Given the description of an element on the screen output the (x, y) to click on. 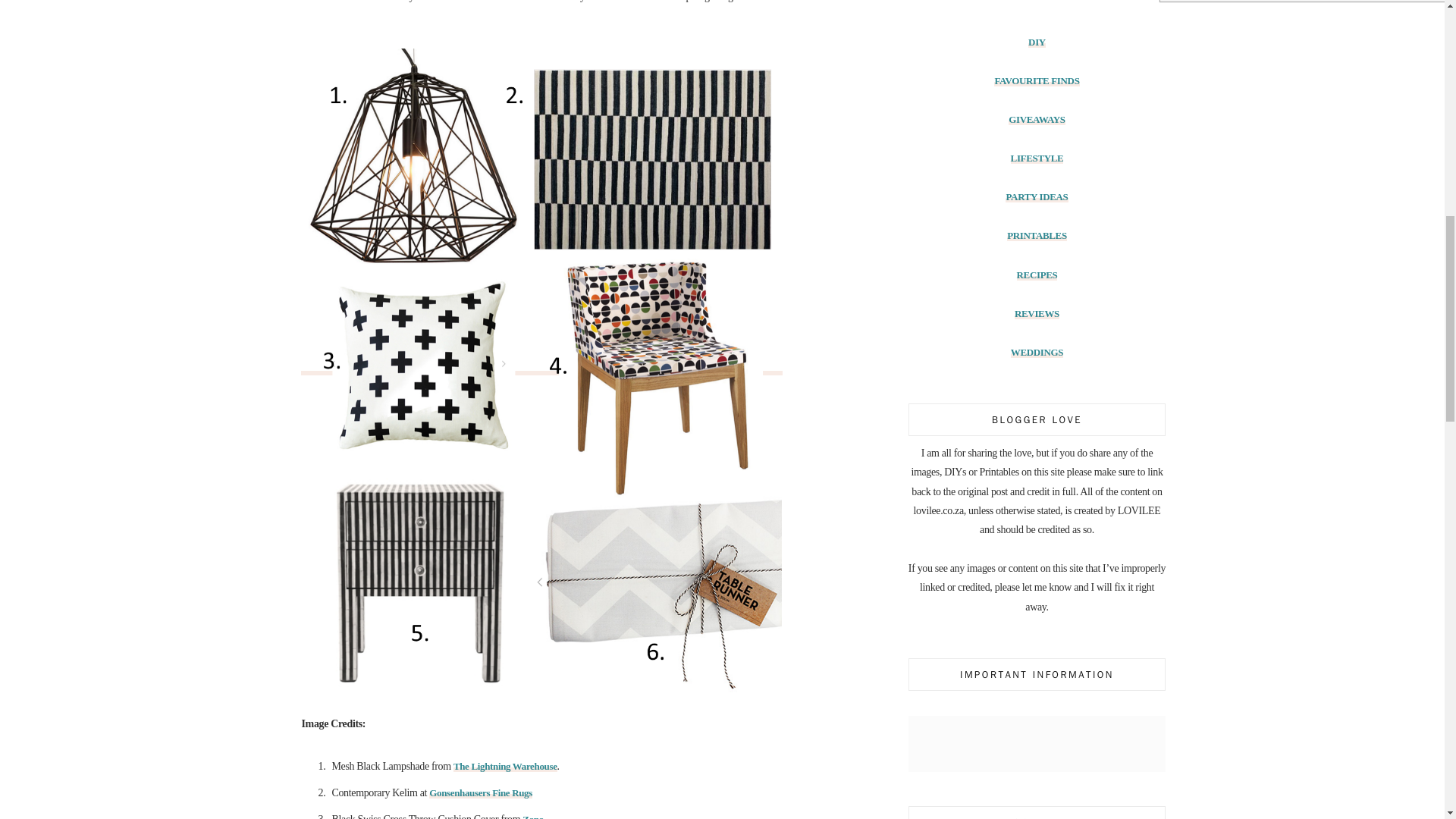
The Lightning Warehouse (504, 766)
Zana (532, 816)
Gonsenhausers Fine Rugs (480, 792)
